Given the description of an element on the screen output the (x, y) to click on. 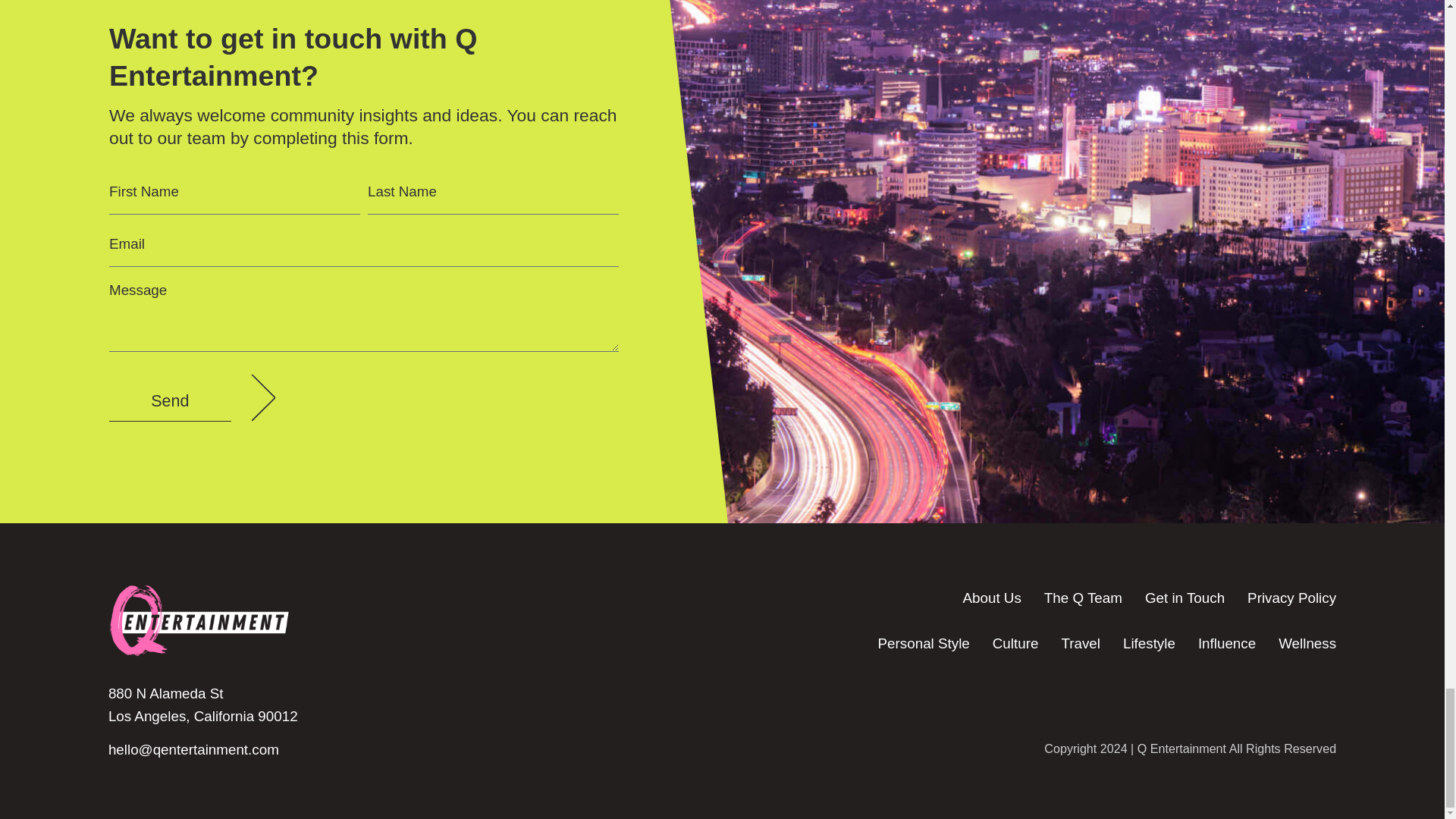
About Us (991, 597)
The Q Team (1082, 597)
Send (170, 402)
Get in Touch (1184, 597)
